Given the description of an element on the screen output the (x, y) to click on. 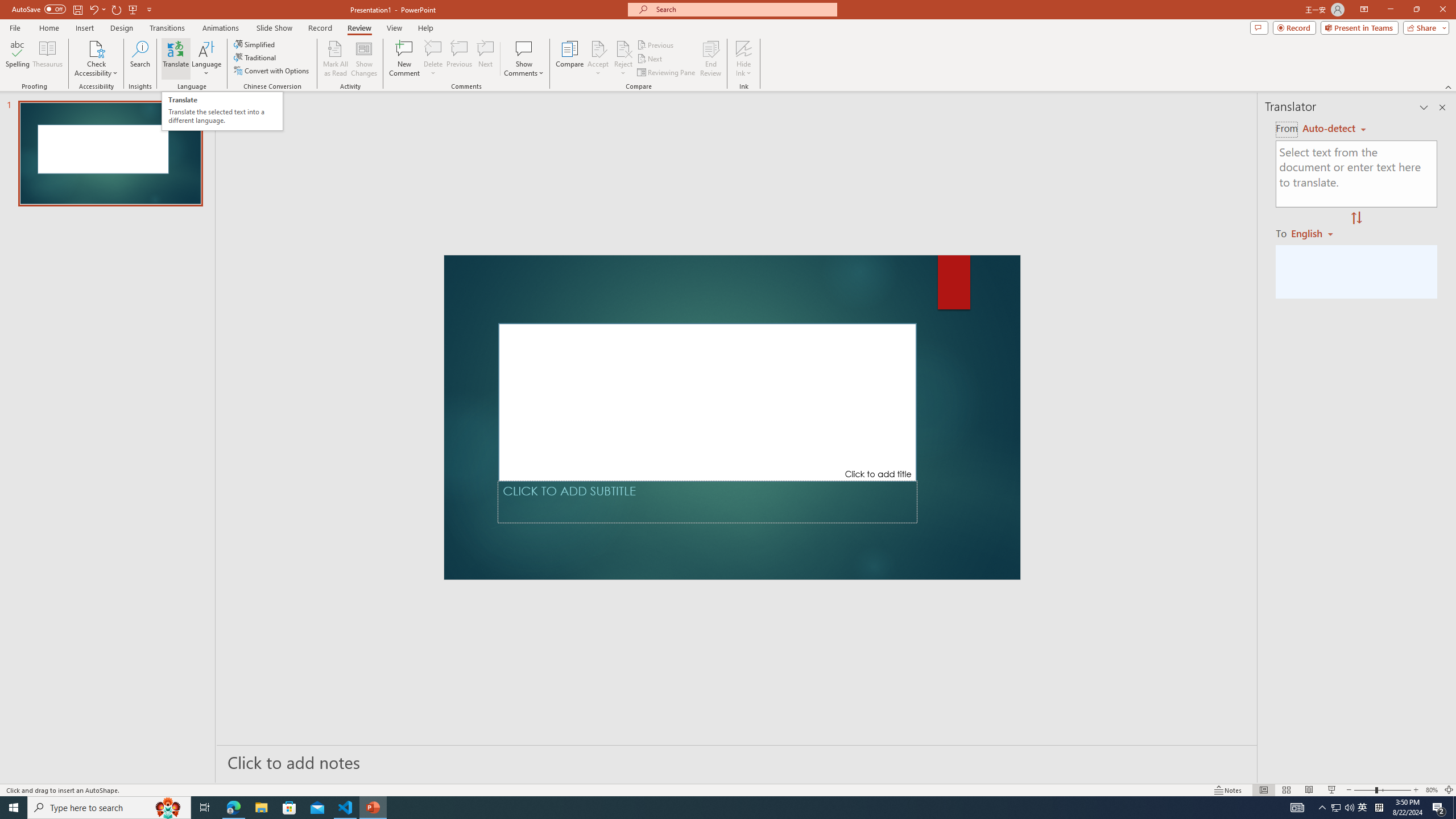
Show Changes (363, 58)
Reject (622, 58)
Language (206, 58)
Accept Change (598, 48)
